Given the description of an element on the screen output the (x, y) to click on. 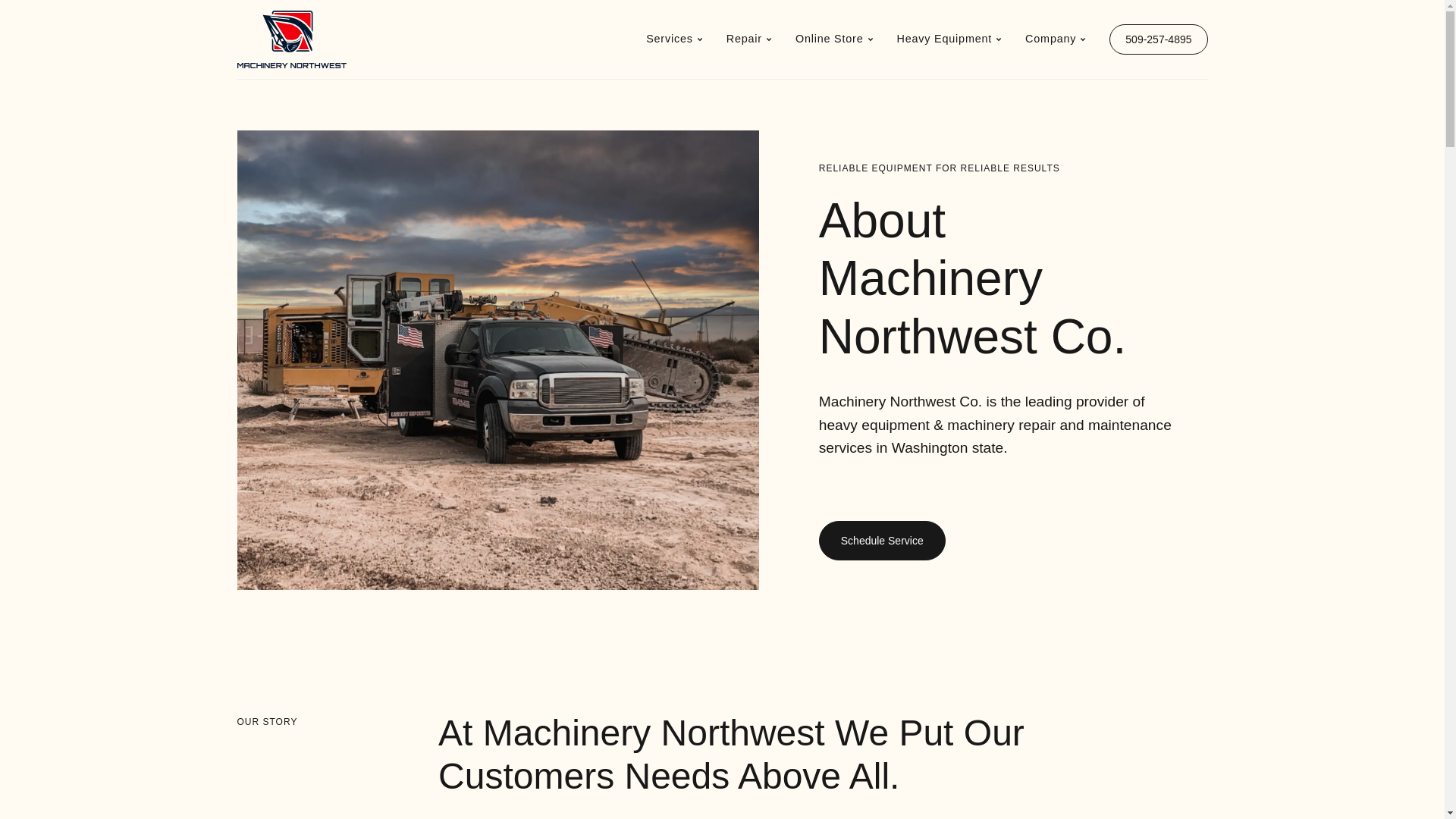
509-257-4895 (1158, 39)
